Given the description of an element on the screen output the (x, y) to click on. 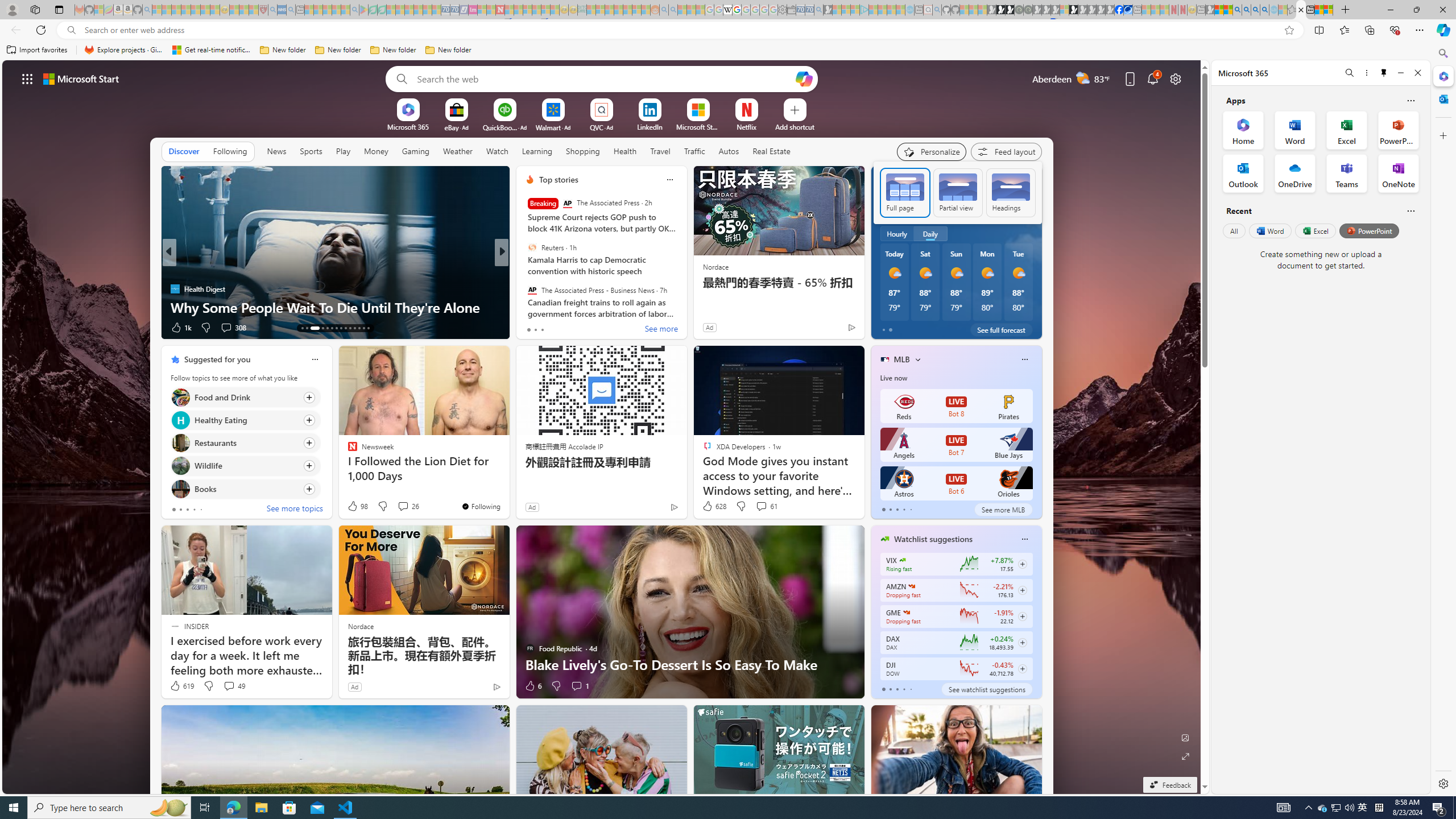
You're following Newsweek (480, 505)
AirNow.gov (1127, 9)
View comments 1 Comment (576, 685)
See more topics (294, 509)
Home Office App (1243, 129)
Gaming (415, 151)
6 Like (532, 685)
Expert Portfolios - Sleeping (617, 9)
Autos (728, 151)
Suggested for you (216, 359)
Personalize your feed" (931, 151)
